Given the description of an element on the screen output the (x, y) to click on. 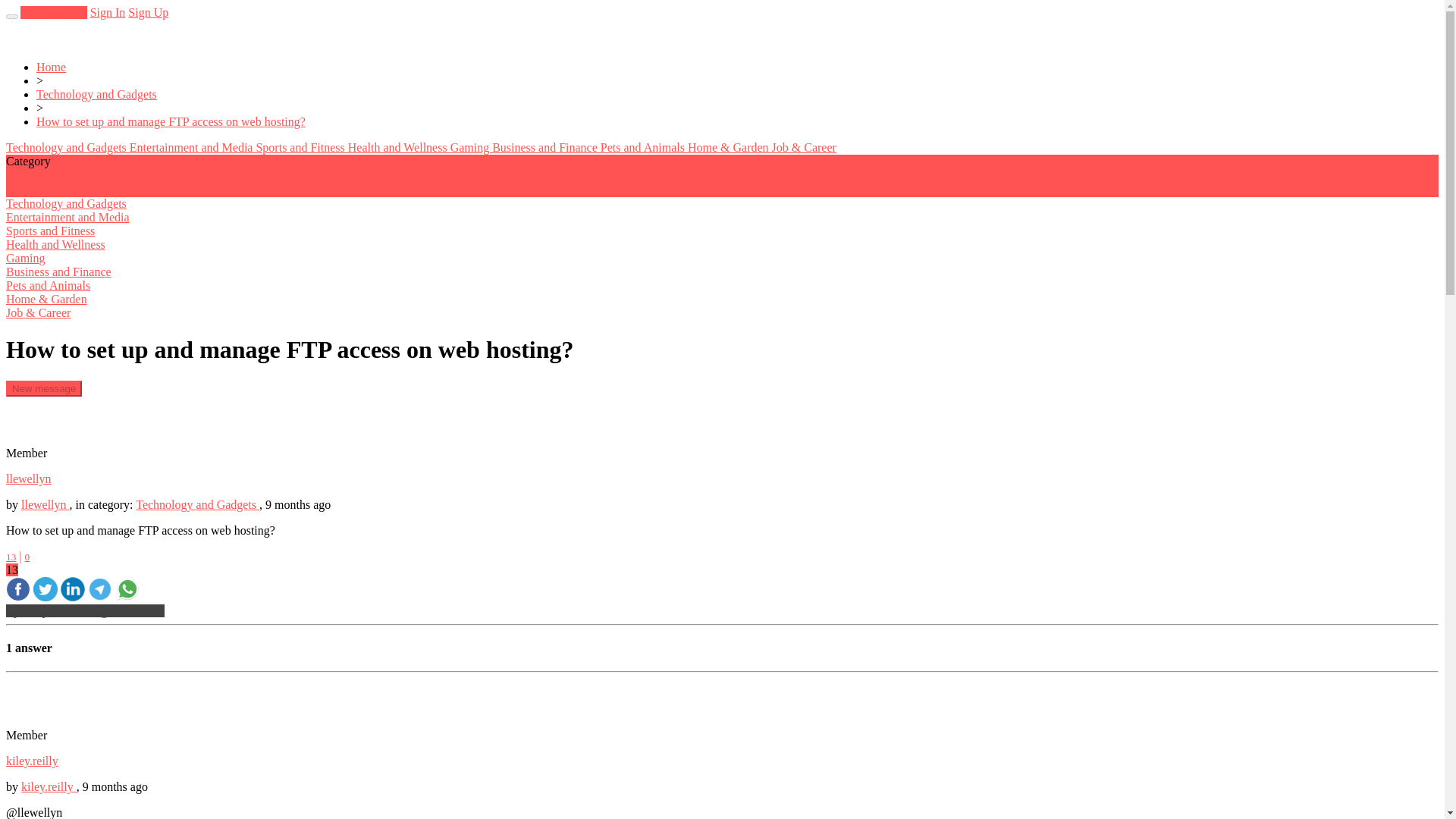
Gaming (471, 146)
Health and Wellness (398, 146)
Technology and Gadgets (197, 504)
LinkedIn (72, 596)
Entertainment and Media (192, 146)
Technology and Gadgets (67, 146)
Facebook (17, 596)
Telegram (99, 596)
Ask Question (53, 11)
Sign Up (148, 11)
New message (43, 388)
Sports and Fitness (301, 146)
How to set up and manage FTP access on web hosting? (170, 121)
Technology and Gadgets (96, 93)
Sign In (107, 11)
